Given the description of an element on the screen output the (x, y) to click on. 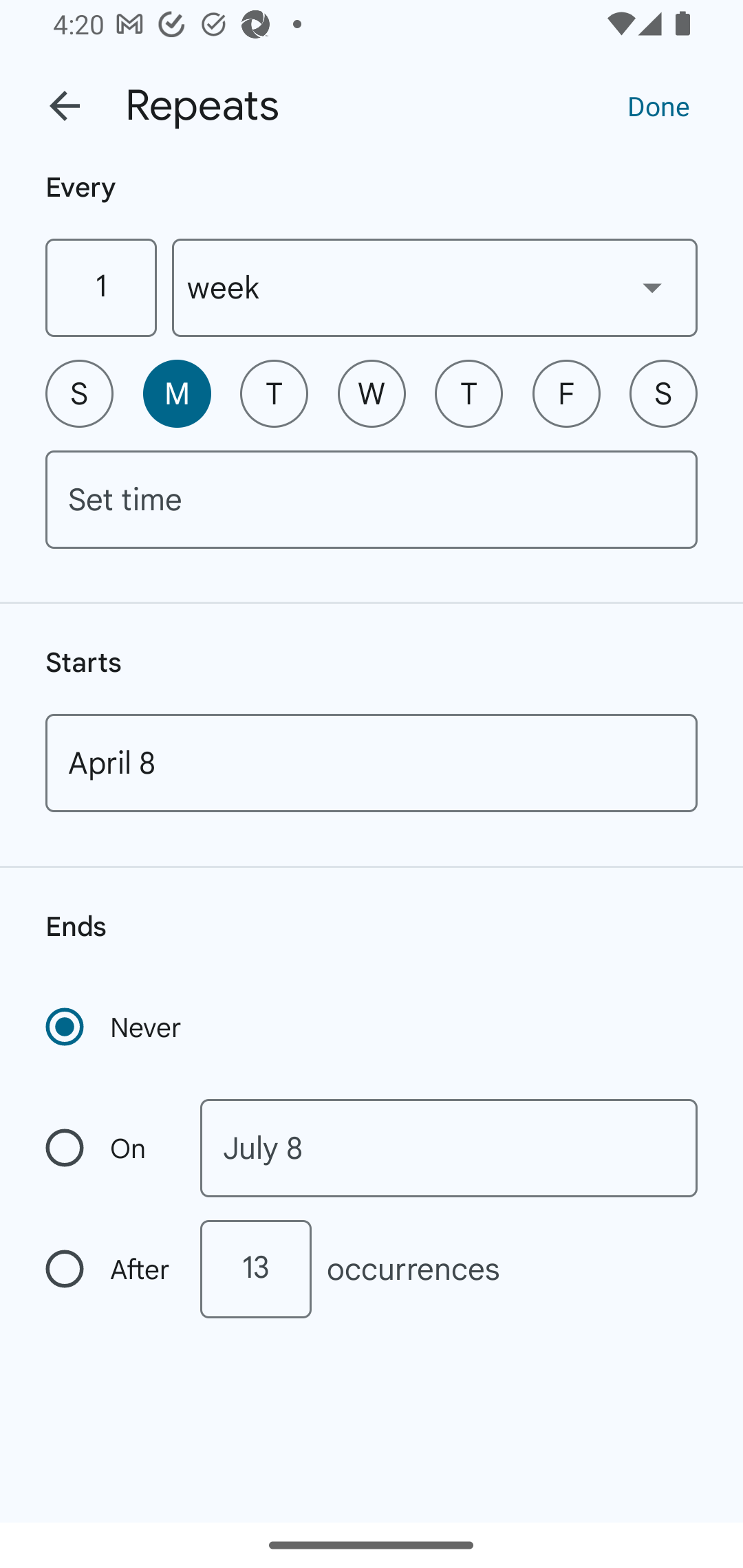
Back (64, 105)
Done (658, 105)
1 (100, 287)
week (434, 287)
Show dropdown menu (652, 286)
S Sunday (79, 393)
M Monday, selected (177, 393)
T Tuesday (273, 393)
W Wednesday (371, 393)
T Thursday (468, 393)
F Friday (566, 393)
S Saturday (663, 393)
Set time (371, 499)
April 8 (371, 762)
Never Recurrence never ends (115, 1026)
July 8 (448, 1148)
On Recurrence ends on a specific date (109, 1148)
13 (255, 1268)
